Given the description of an element on the screen output the (x, y) to click on. 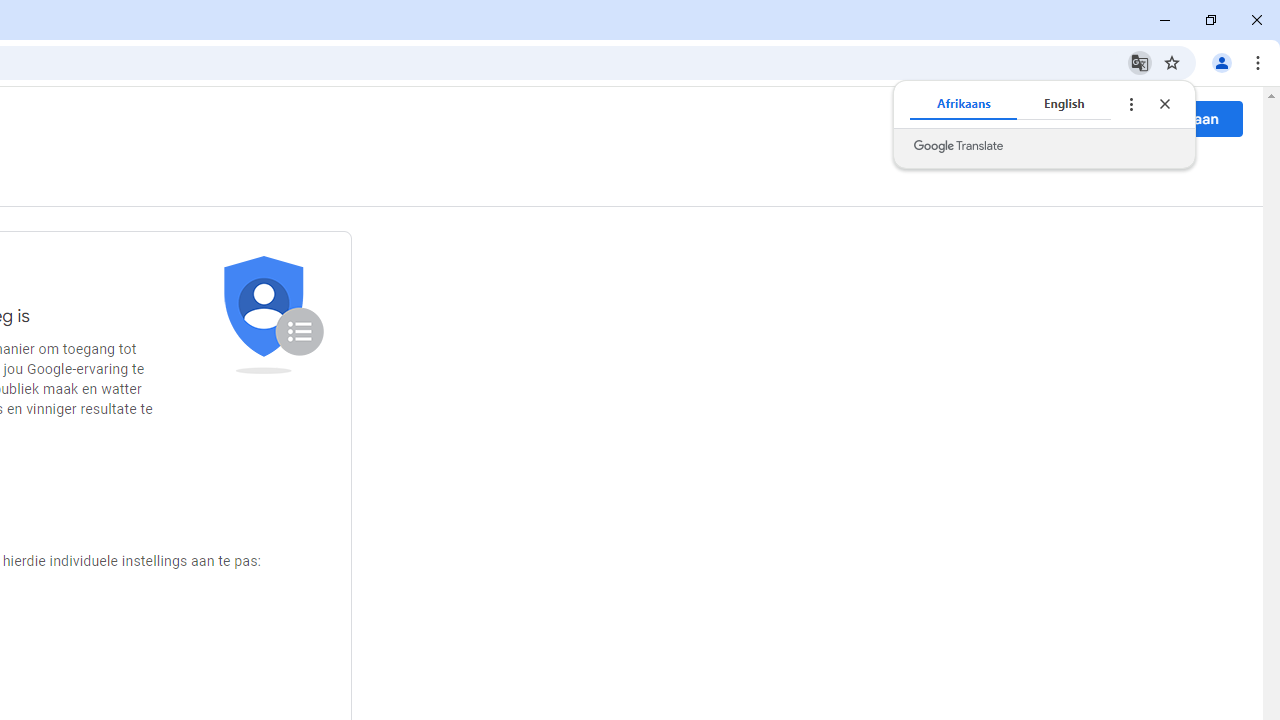
Translate this page (1139, 62)
Hulp (1056, 119)
Translate options (1130, 103)
Google-programme (1100, 118)
Meld aan (1186, 118)
English (1064, 103)
Afrikaans (963, 103)
